Given the description of an element on the screen output the (x, y) to click on. 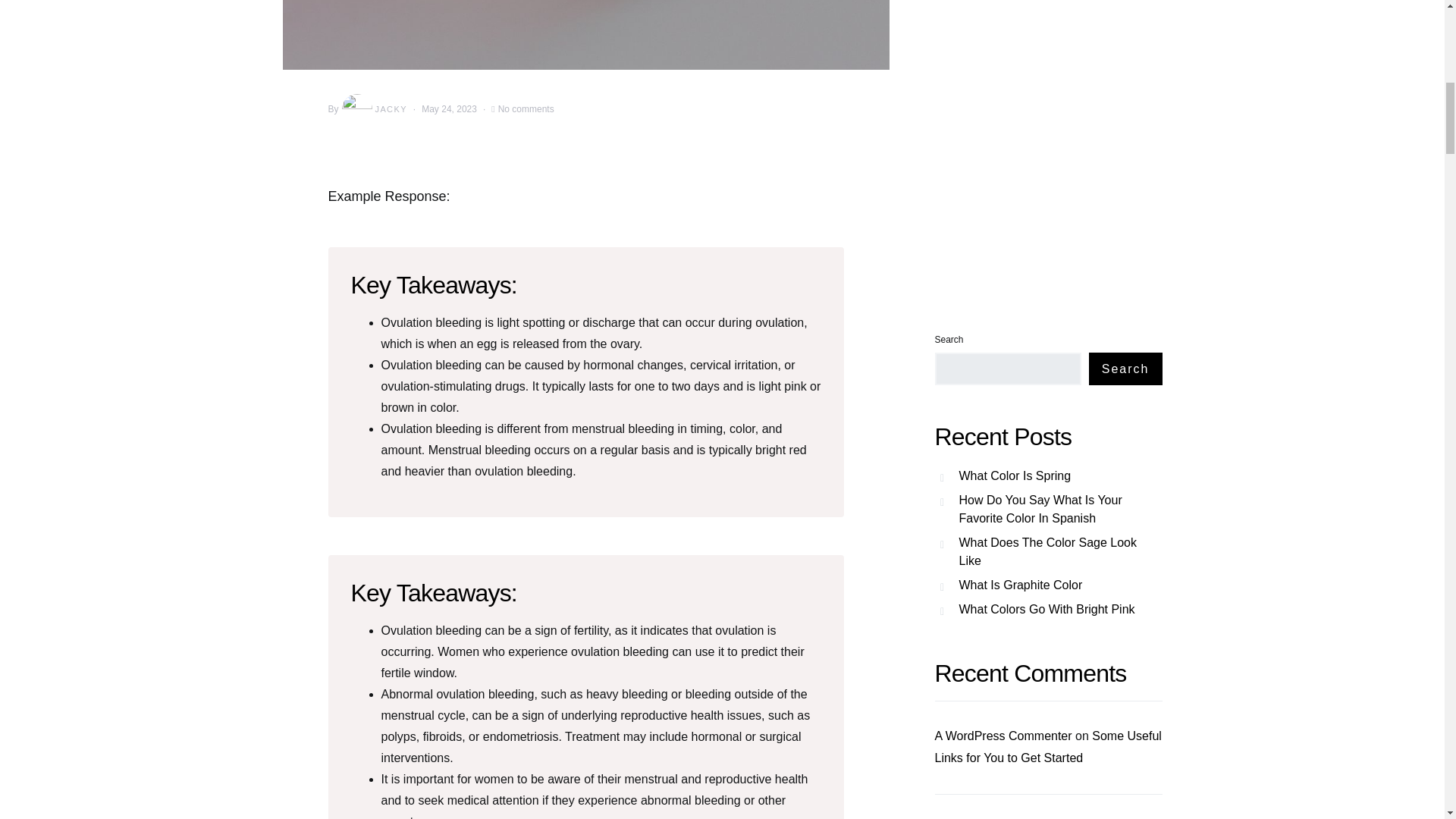
JACKY (373, 109)
No comments (525, 109)
View all posts by Jacky (373, 109)
